Given the description of an element on the screen output the (x, y) to click on. 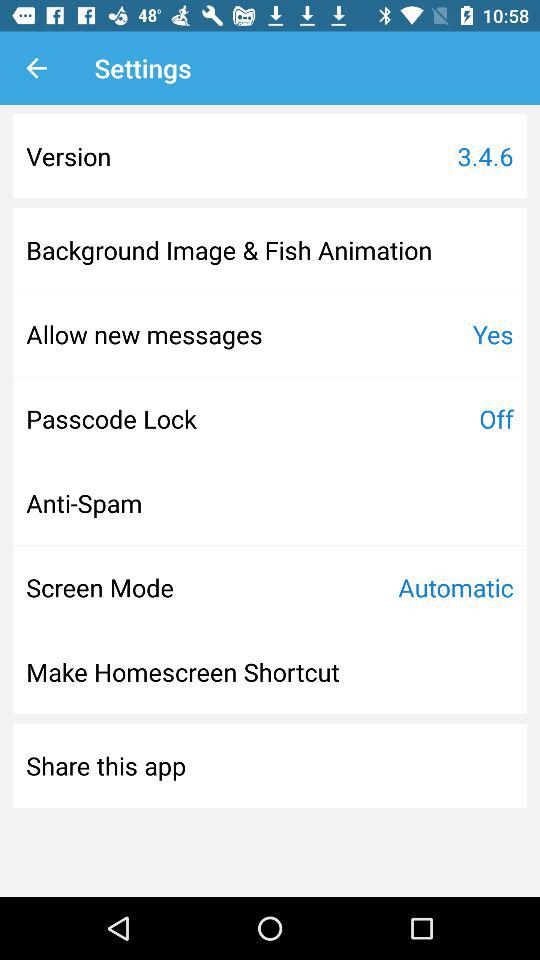
select the icon next to settings icon (36, 68)
